Given the description of an element on the screen output the (x, y) to click on. 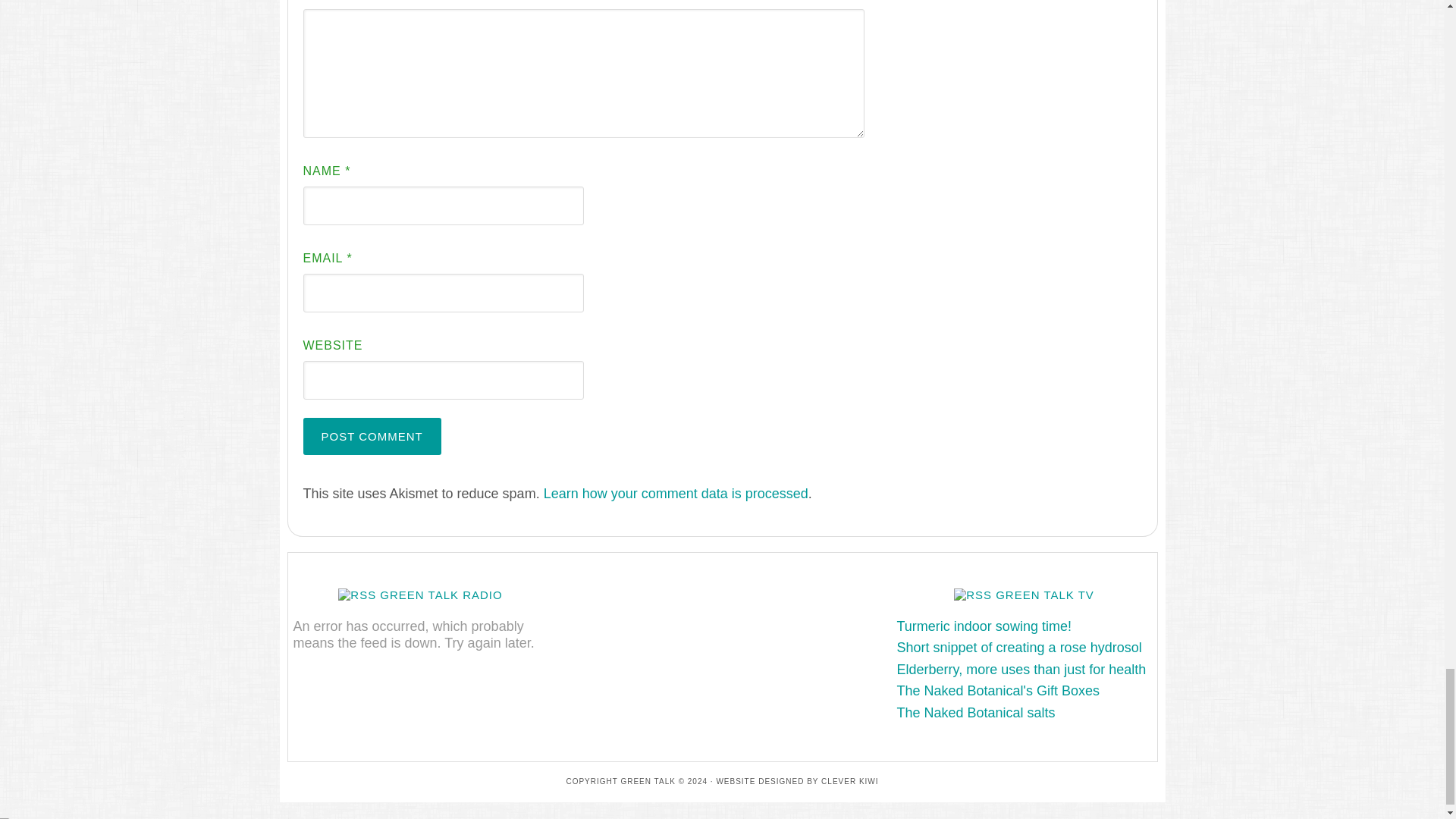
Post Comment (371, 436)
